Given the description of an element on the screen output the (x, y) to click on. 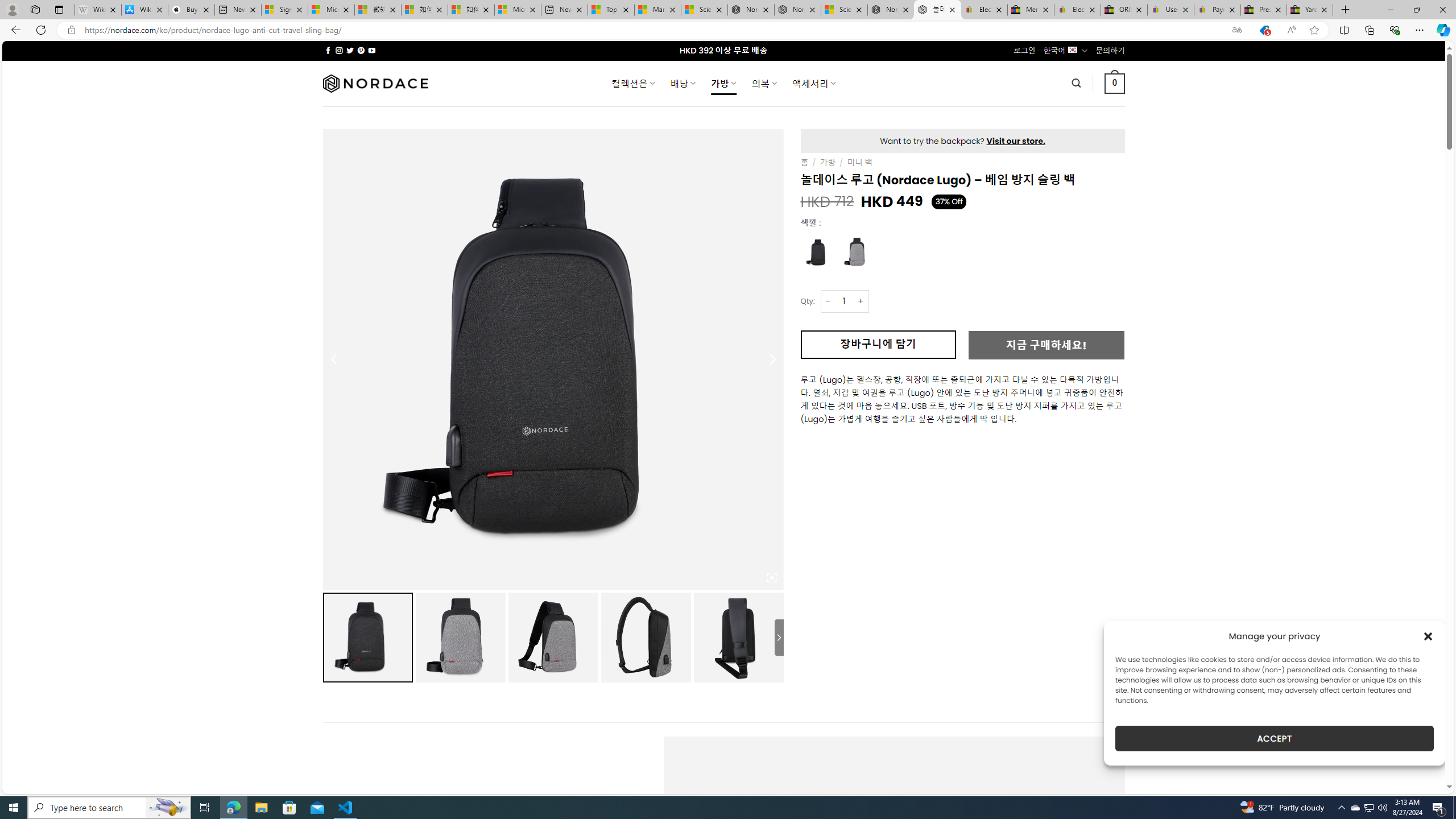
Follow on Twitter (349, 50)
+ (861, 300)
